Given the description of an element on the screen output the (x, y) to click on. 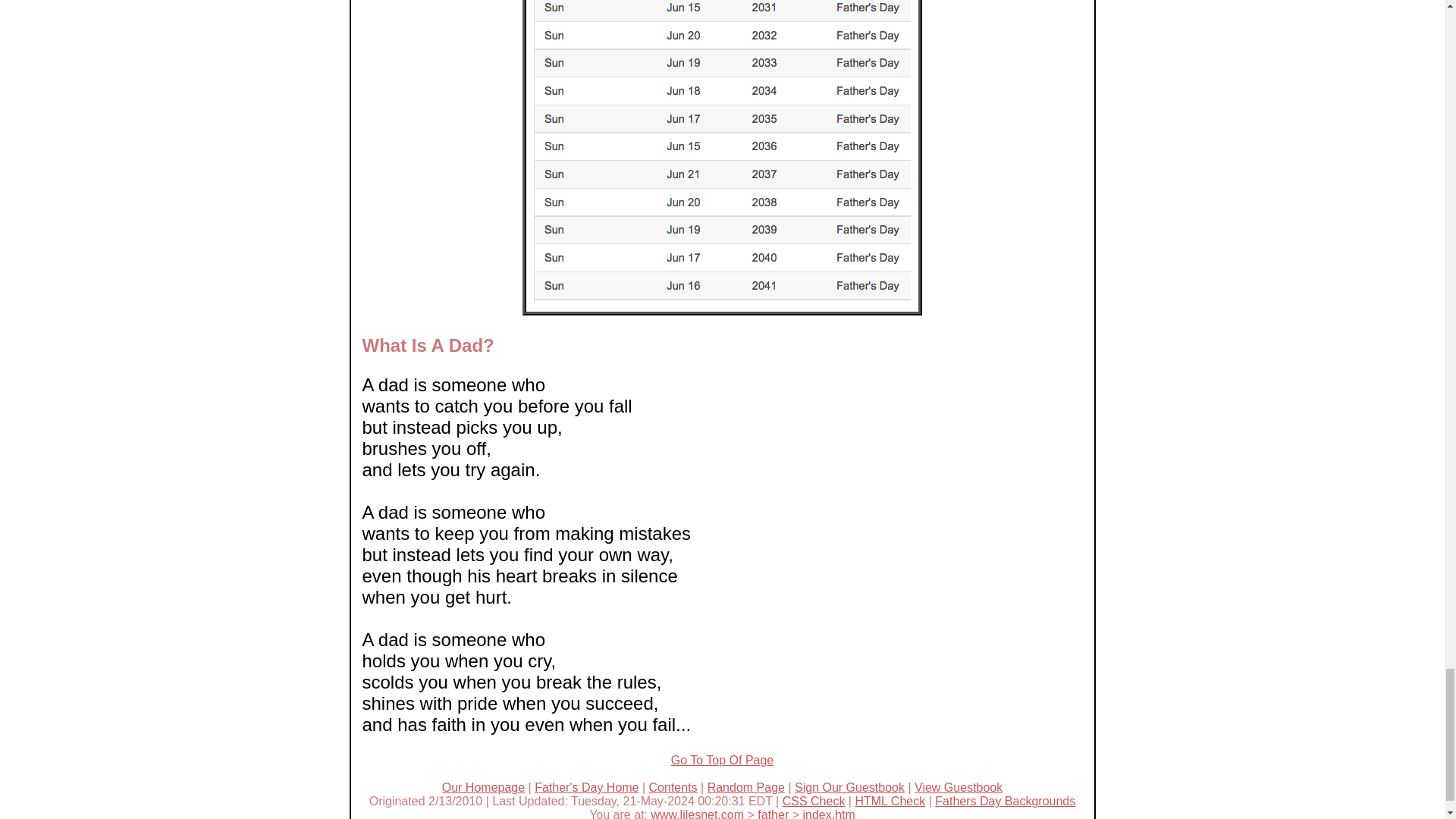
Our Homepage (483, 787)
Sign Our Guestbook (849, 787)
View Guestbook (958, 787)
Go To Top Of Page (722, 759)
Father's Day Home (586, 787)
Contents (673, 787)
Random Page (745, 787)
